Given the description of an element on the screen output the (x, y) to click on. 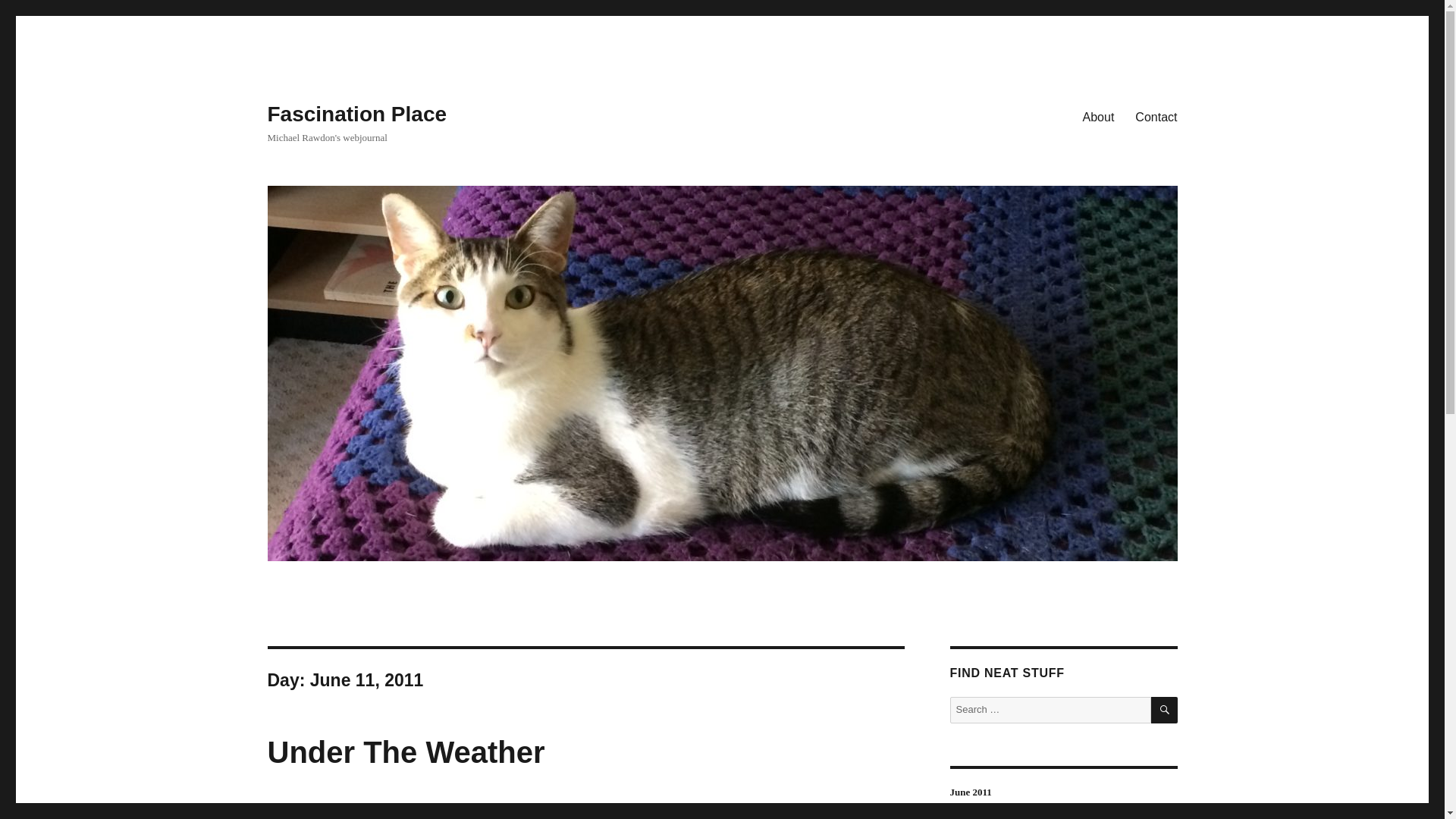
About (1098, 116)
Fascination Place (356, 114)
Contact (1156, 116)
SEARCH (1164, 709)
Under The Weather (405, 752)
11 June 2011 (296, 811)
